Given the description of an element on the screen output the (x, y) to click on. 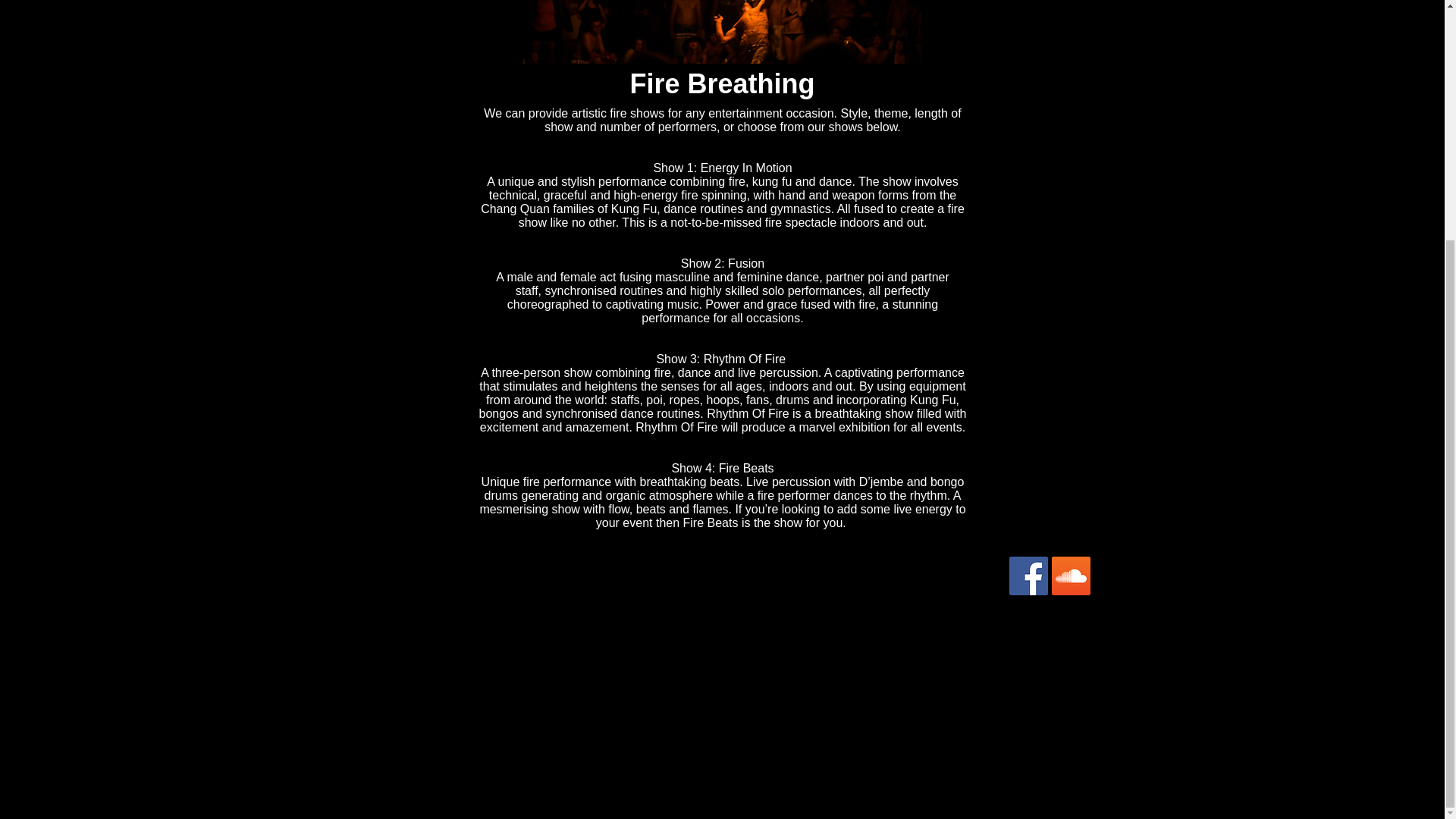
Fire Breather (722, 31)
